Given the description of an element on the screen output the (x, y) to click on. 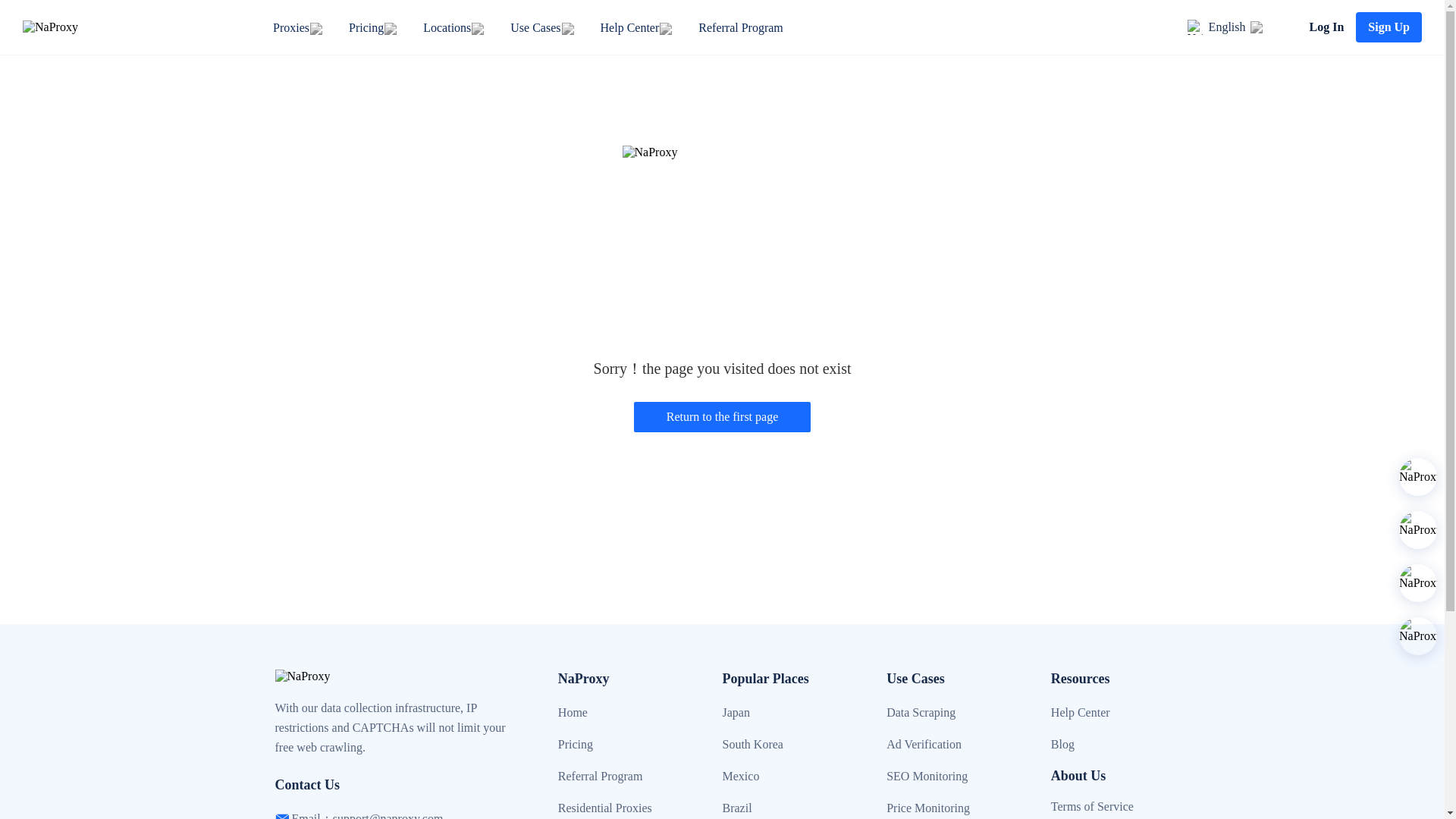
Help Center (629, 27)
Sign Up (1388, 27)
Log In (1326, 27)
Referral Program (740, 27)
Use Cases (535, 27)
